Given the description of an element on the screen output the (x, y) to click on. 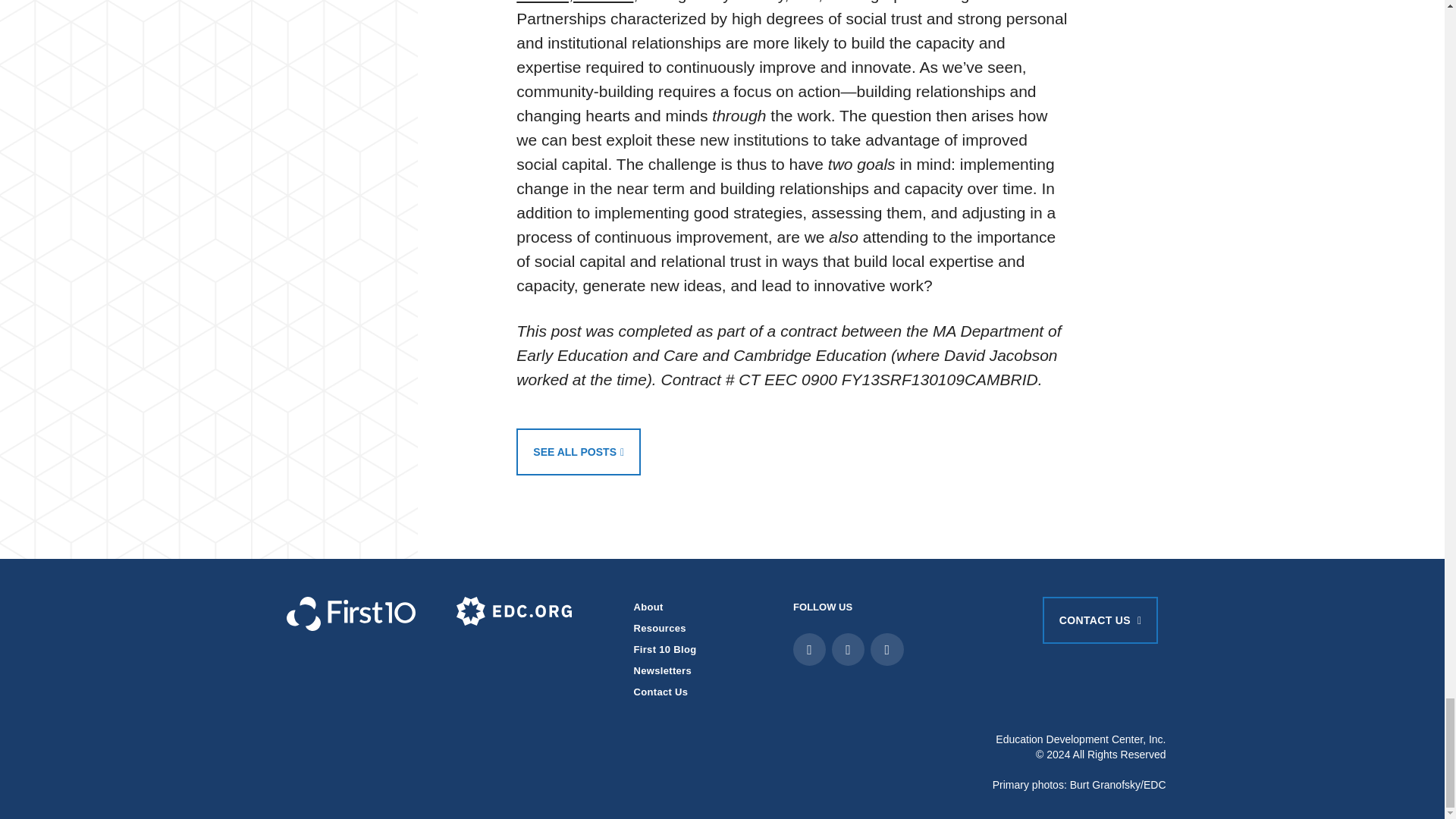
Contact Us (660, 691)
First 10 Blog (665, 649)
Newsletters (663, 670)
Ontario, Canada (574, 1)
About (648, 606)
Resources (659, 627)
SEE ALL POSTS (578, 451)
